Given the description of an element on the screen output the (x, y) to click on. 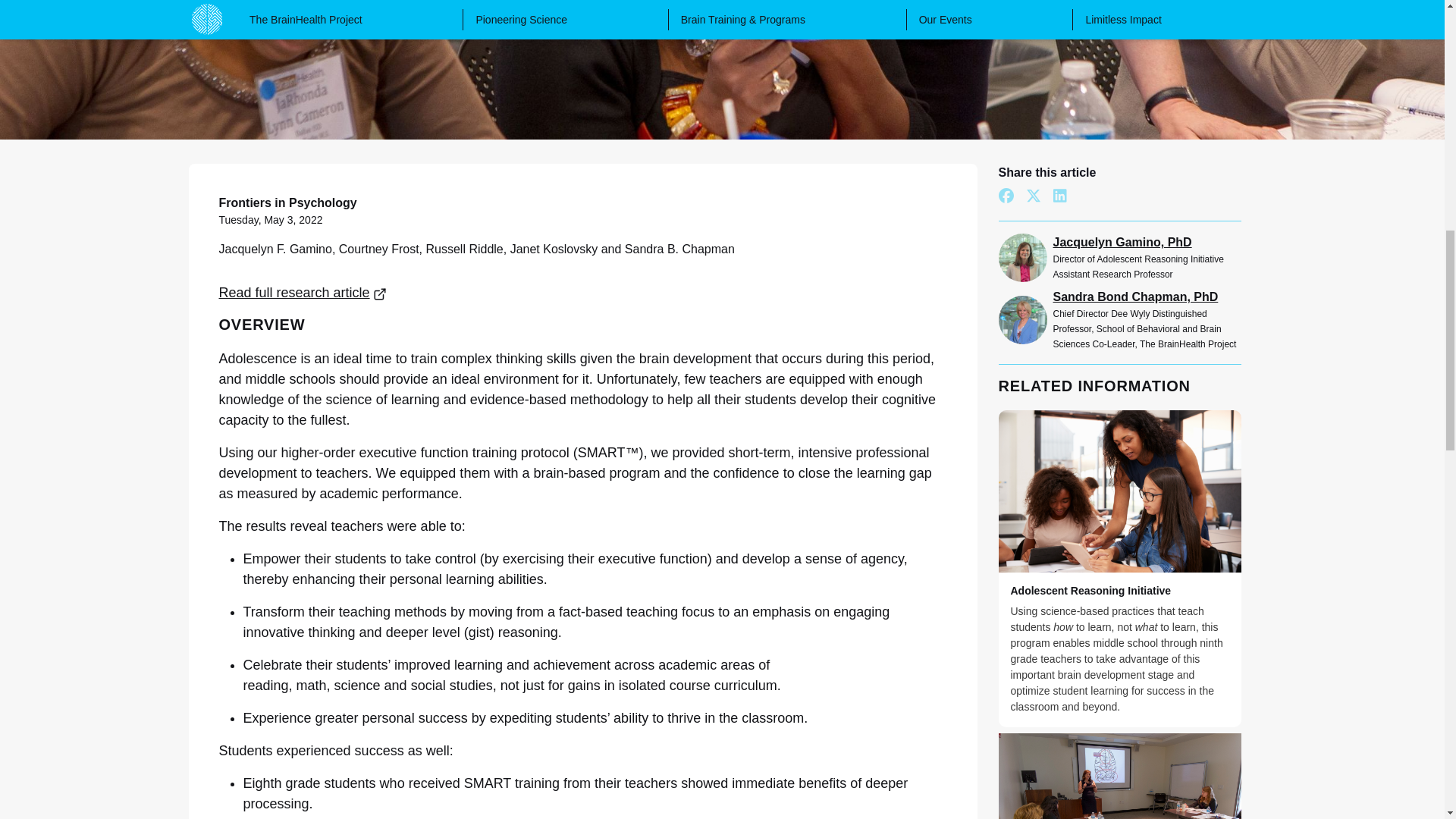
Read full research article (301, 292)
Share on Twitter (1033, 195)
Jacquelyn Gamino, PhD (1146, 242)
Share on LinkedIn (1058, 195)
Share on Facebook (1005, 195)
